Given the description of an element on the screen output the (x, y) to click on. 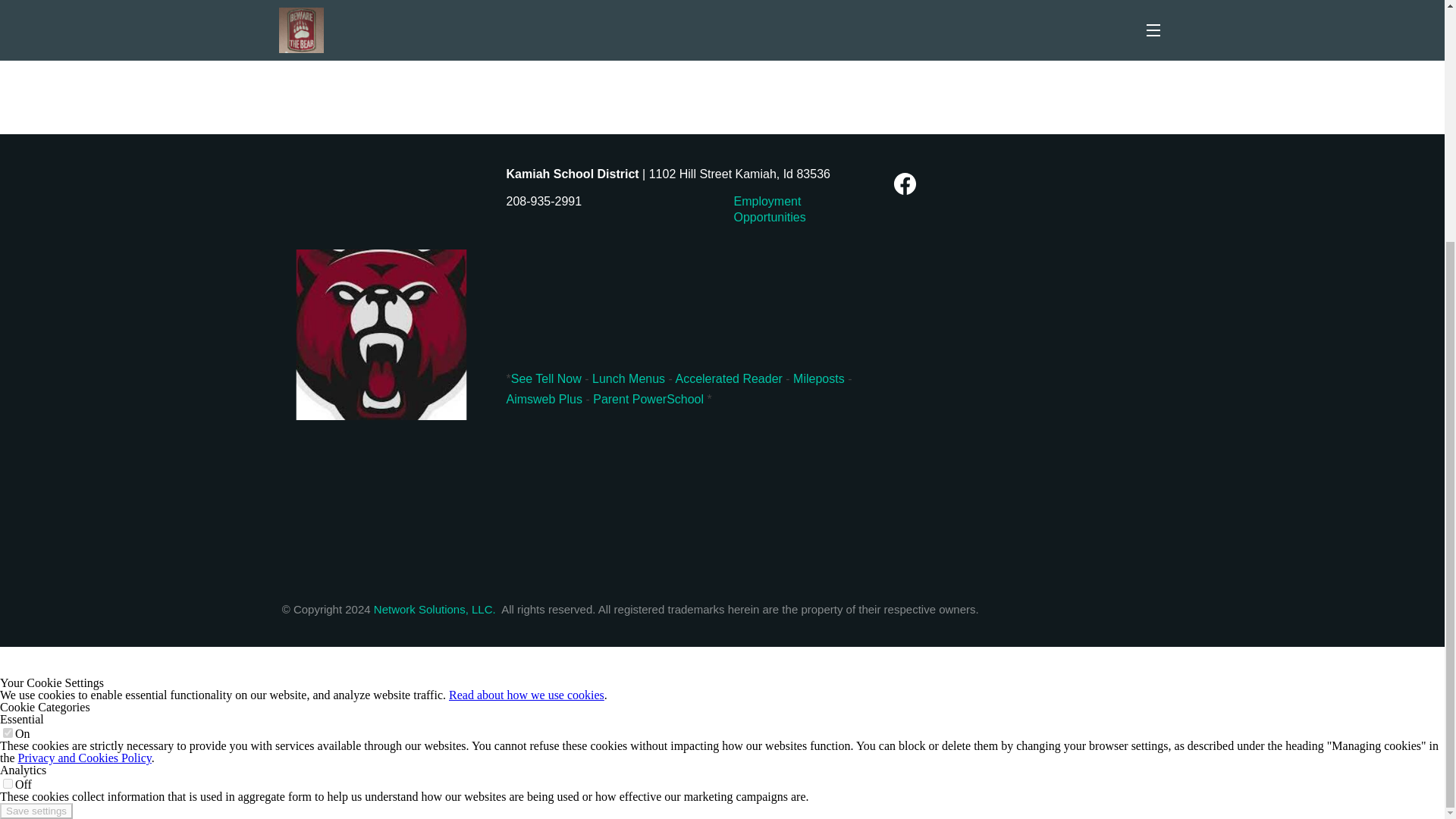
Lunch Menus (628, 378)
208-935-2991 (544, 201)
on (7, 783)
See Tell Now (545, 378)
Employment Opportunities (769, 209)
on (7, 732)
Accelerated Reader (730, 378)
Aimsweb Plus (546, 399)
Mileposts (820, 378)
